Given the description of an element on the screen output the (x, y) to click on. 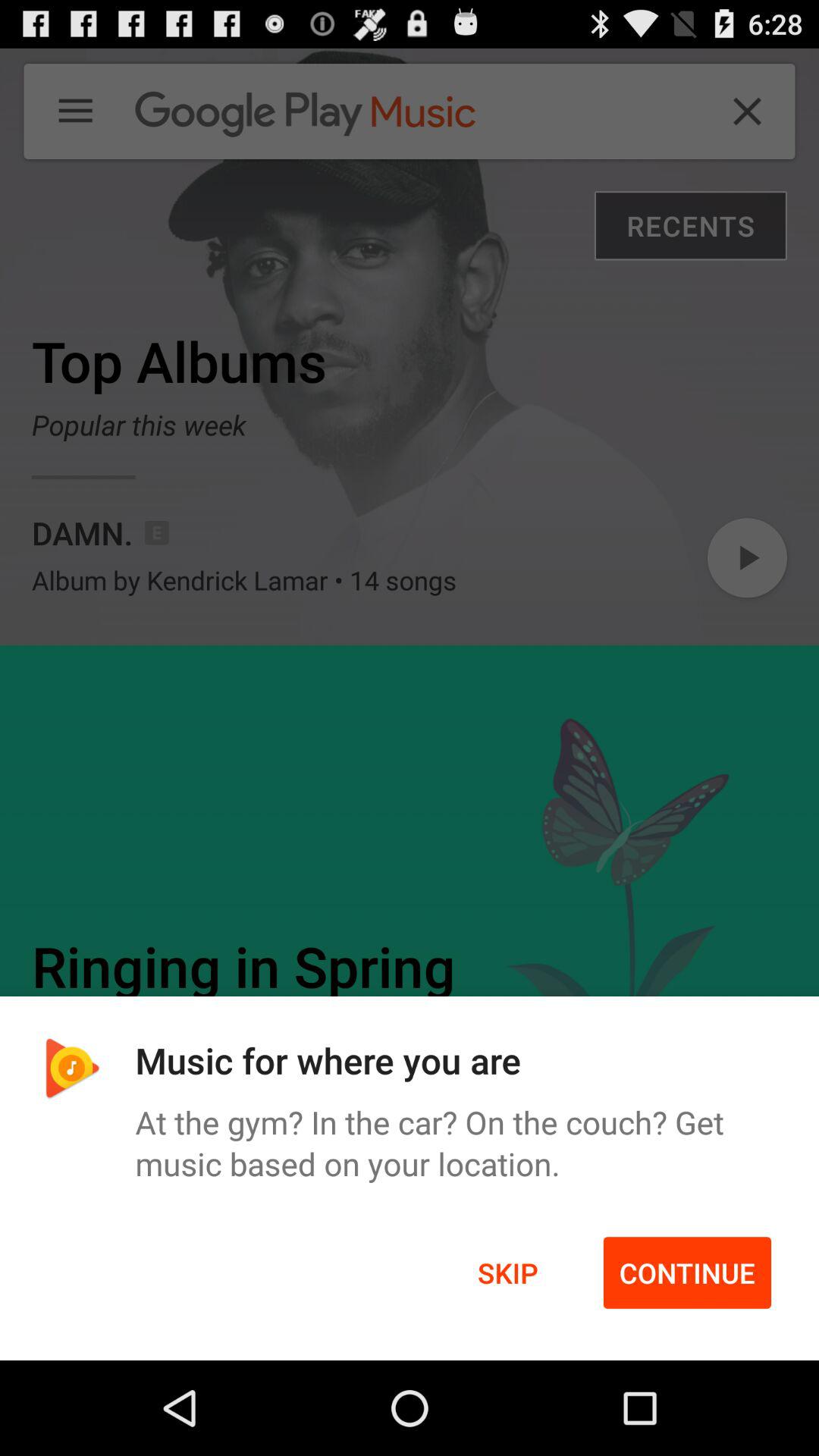
click item below the at the gym icon (687, 1272)
